Given the description of an element on the screen output the (x, y) to click on. 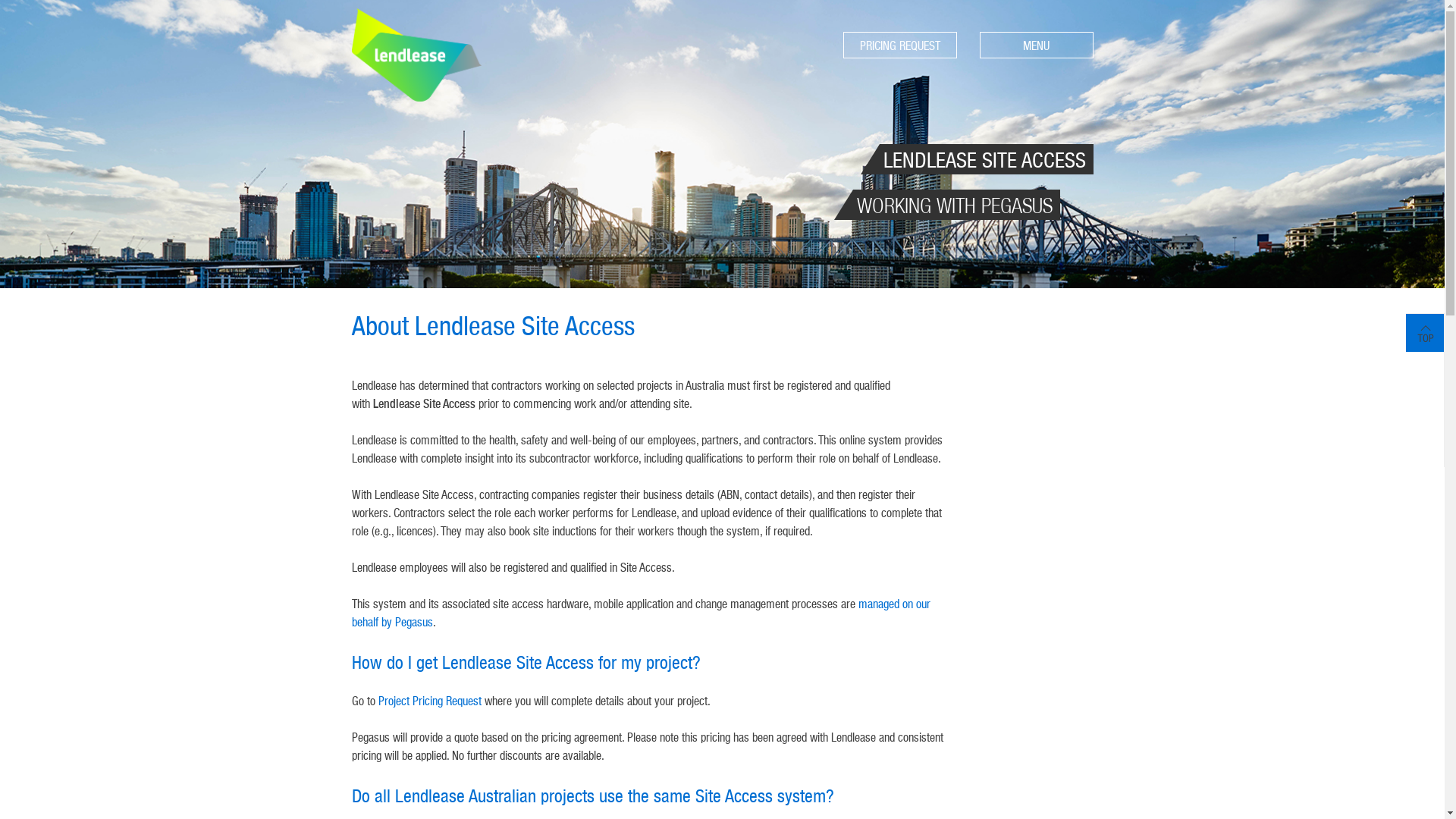
PRICING REQUEST Element type: text (900, 44)
managed on our behalf by Pegasus Element type: text (640, 612)
Lendlease Site Access Site Element type: text (416, 54)
Project Pricing Request Element type: text (428, 700)
MENU Element type: text (1036, 44)
